Given the description of an element on the screen output the (x, y) to click on. 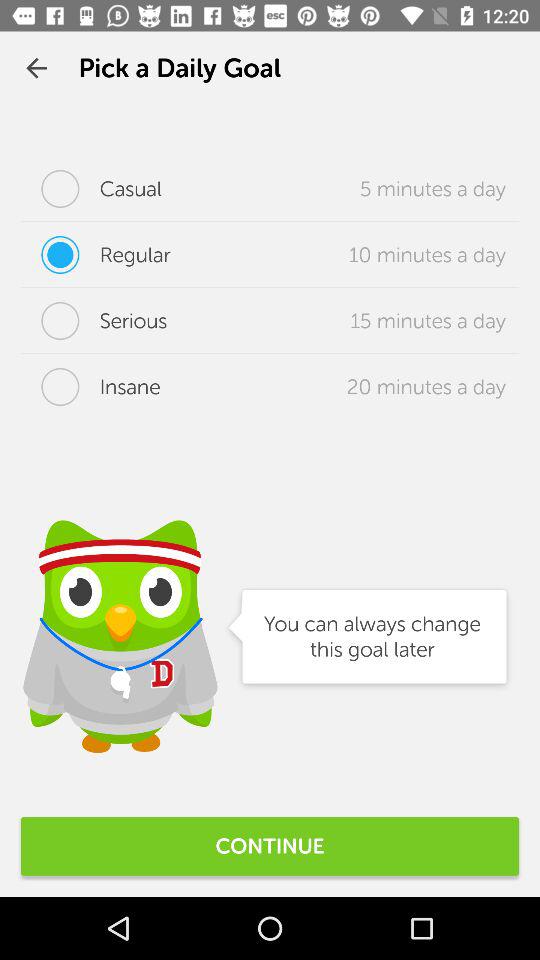
turn on icon next to the 15 minutes a item (94, 321)
